Given the description of an element on the screen output the (x, y) to click on. 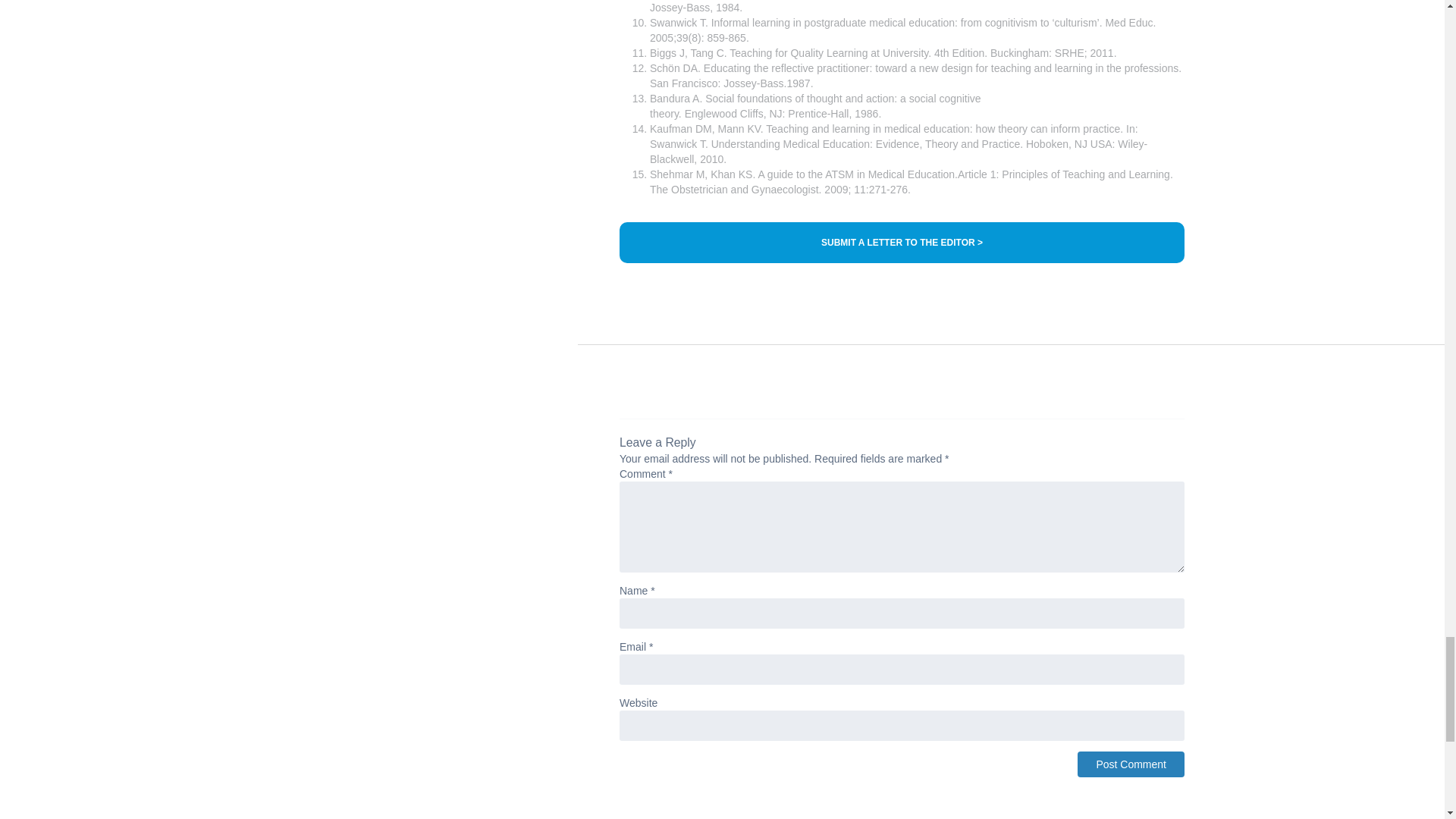
Post Comment (1131, 764)
Post Comment (1131, 764)
